Given the description of an element on the screen output the (x, y) to click on. 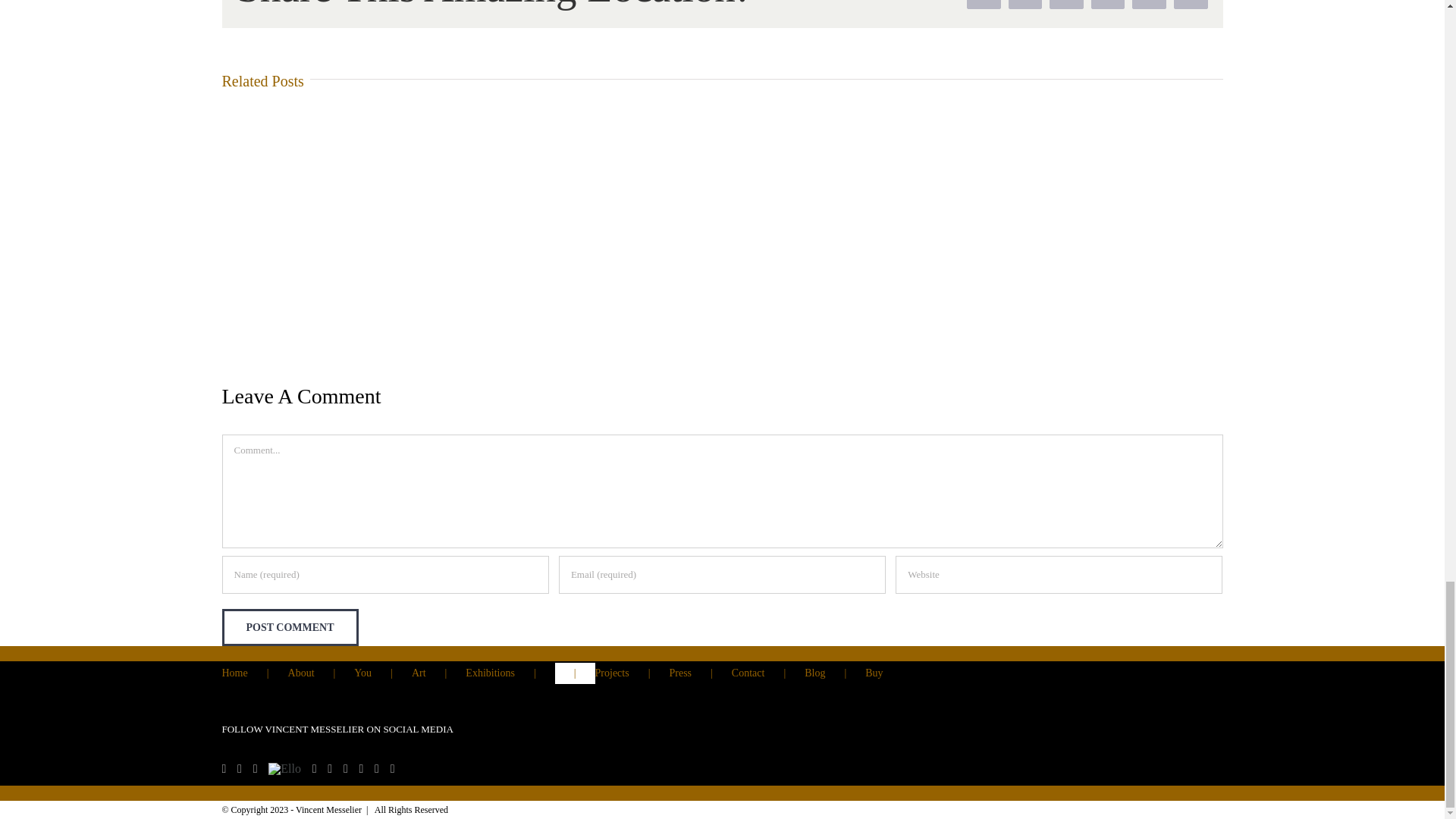
facebook (983, 4)
Email (1190, 4)
twitter (1025, 4)
linkedin (1066, 4)
whatsapp (1107, 4)
Post Comment (289, 627)
pinterest (1149, 4)
